Given the description of an element on the screen output the (x, y) to click on. 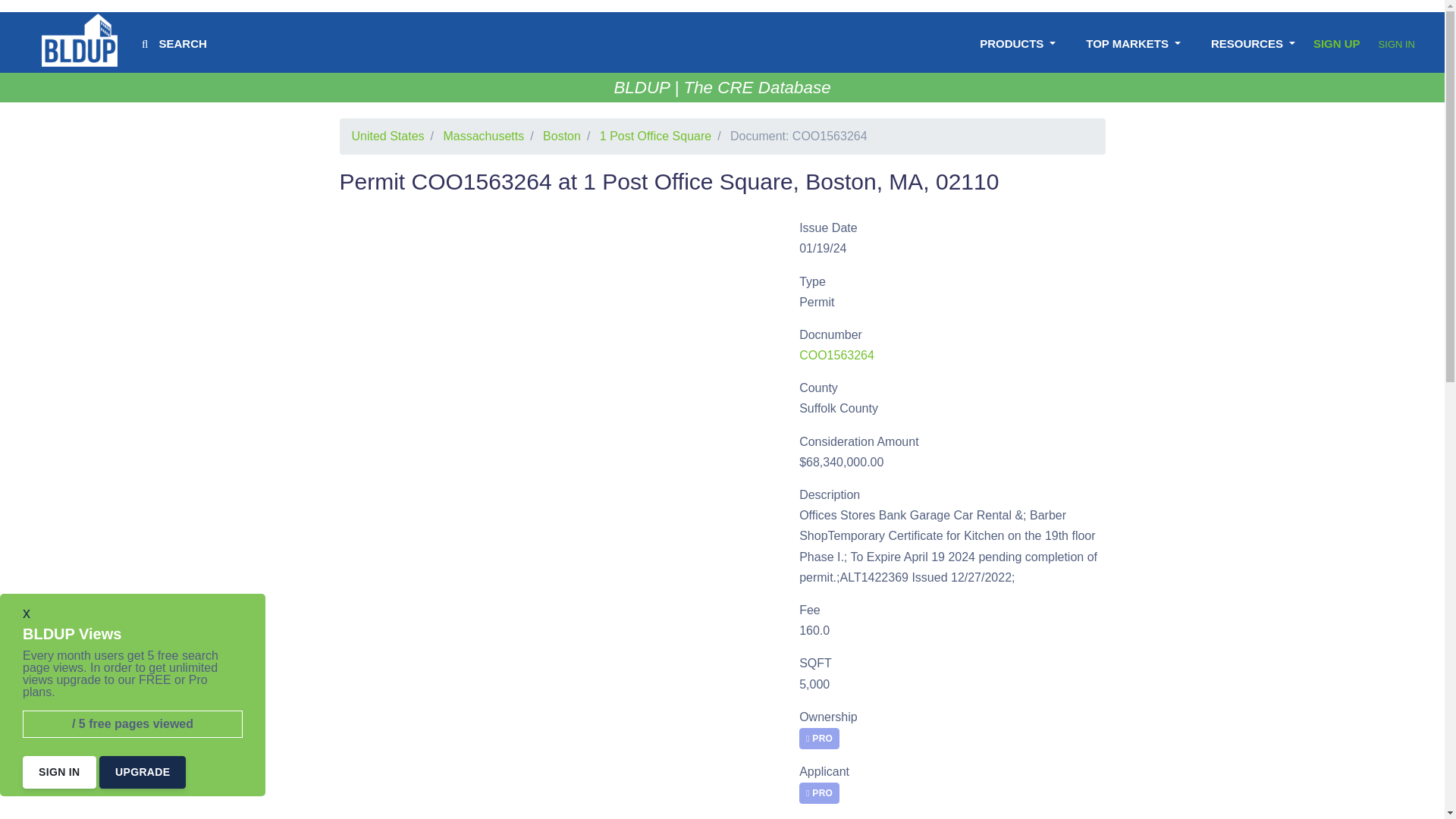
SEARCH (174, 44)
COO1563264 (837, 354)
SIGN IN (1396, 43)
PRO (819, 738)
PRODUCTS (1017, 44)
TOP MARKETS (1133, 44)
SIGN UP (1336, 42)
PRO (819, 791)
1 Post Office Square (655, 135)
Boston (561, 135)
